Given the description of an element on the screen output the (x, y) to click on. 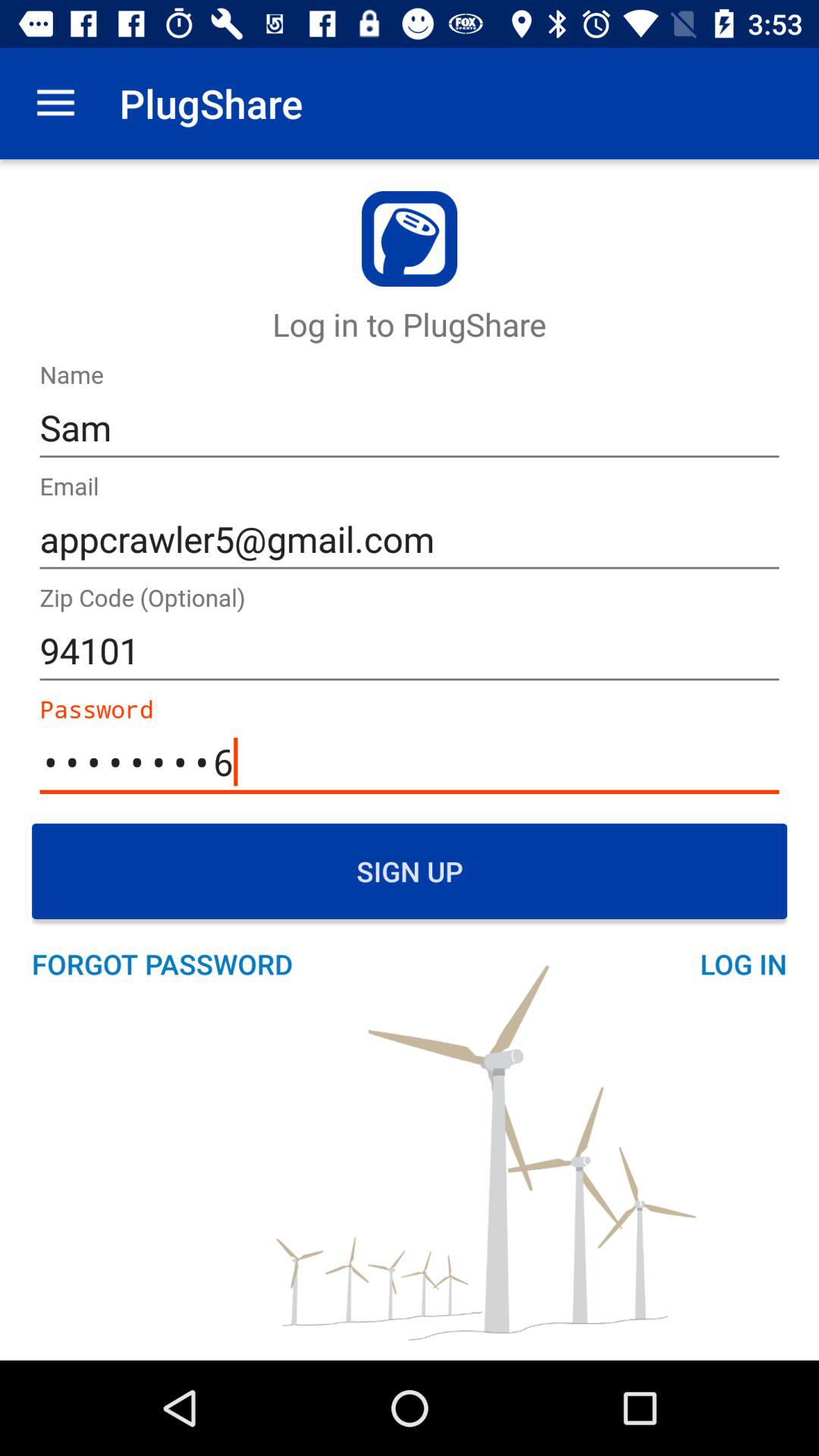
jump until the sam (409, 428)
